Given the description of an element on the screen output the (x, y) to click on. 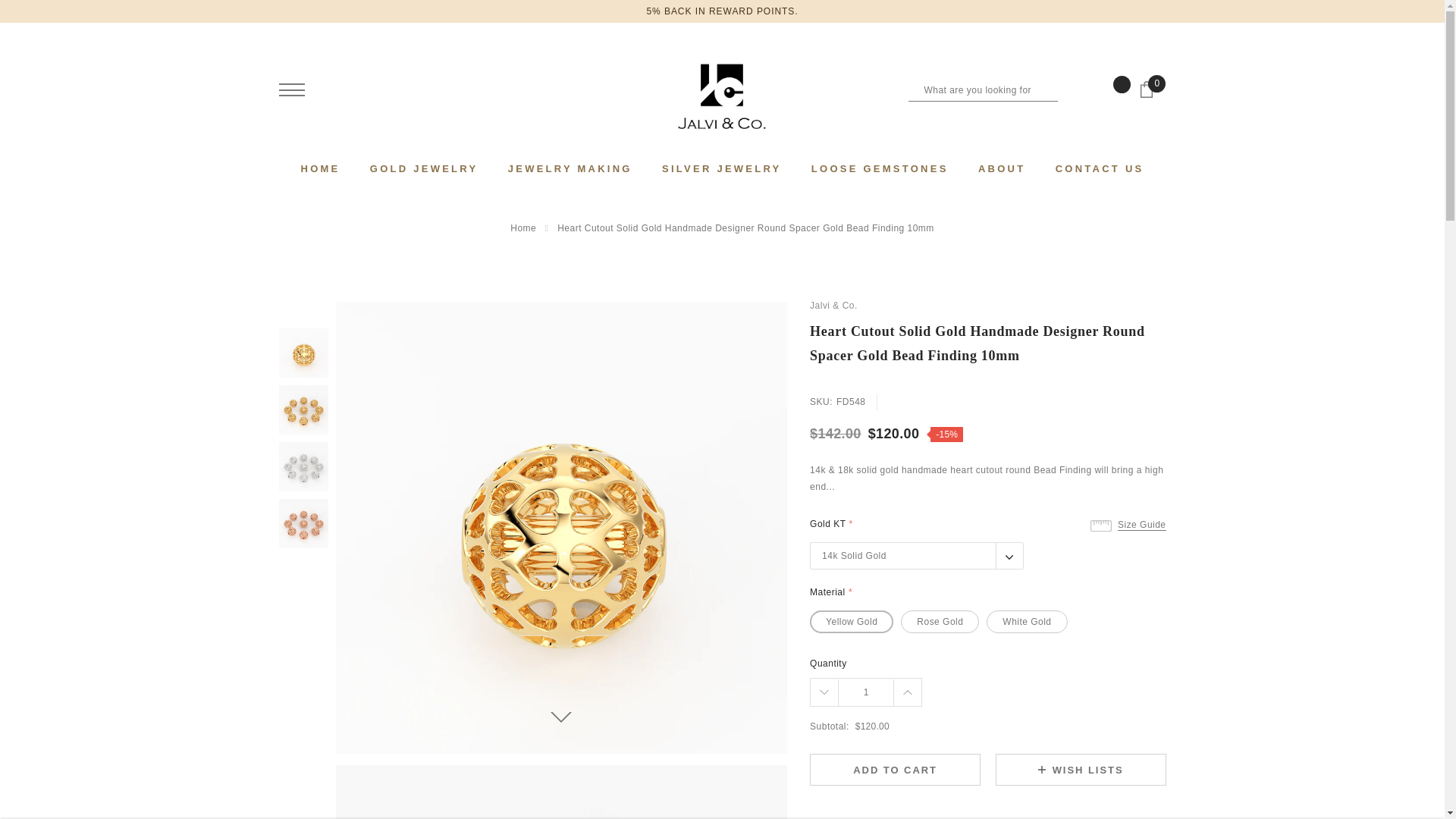
GOLD JEWELRY (424, 167)
1 (865, 692)
Menu left (291, 90)
Yellow Gold (851, 621)
search (1069, 89)
User Icon (335, 89)
0 (1152, 96)
